Given the description of an element on the screen output the (x, y) to click on. 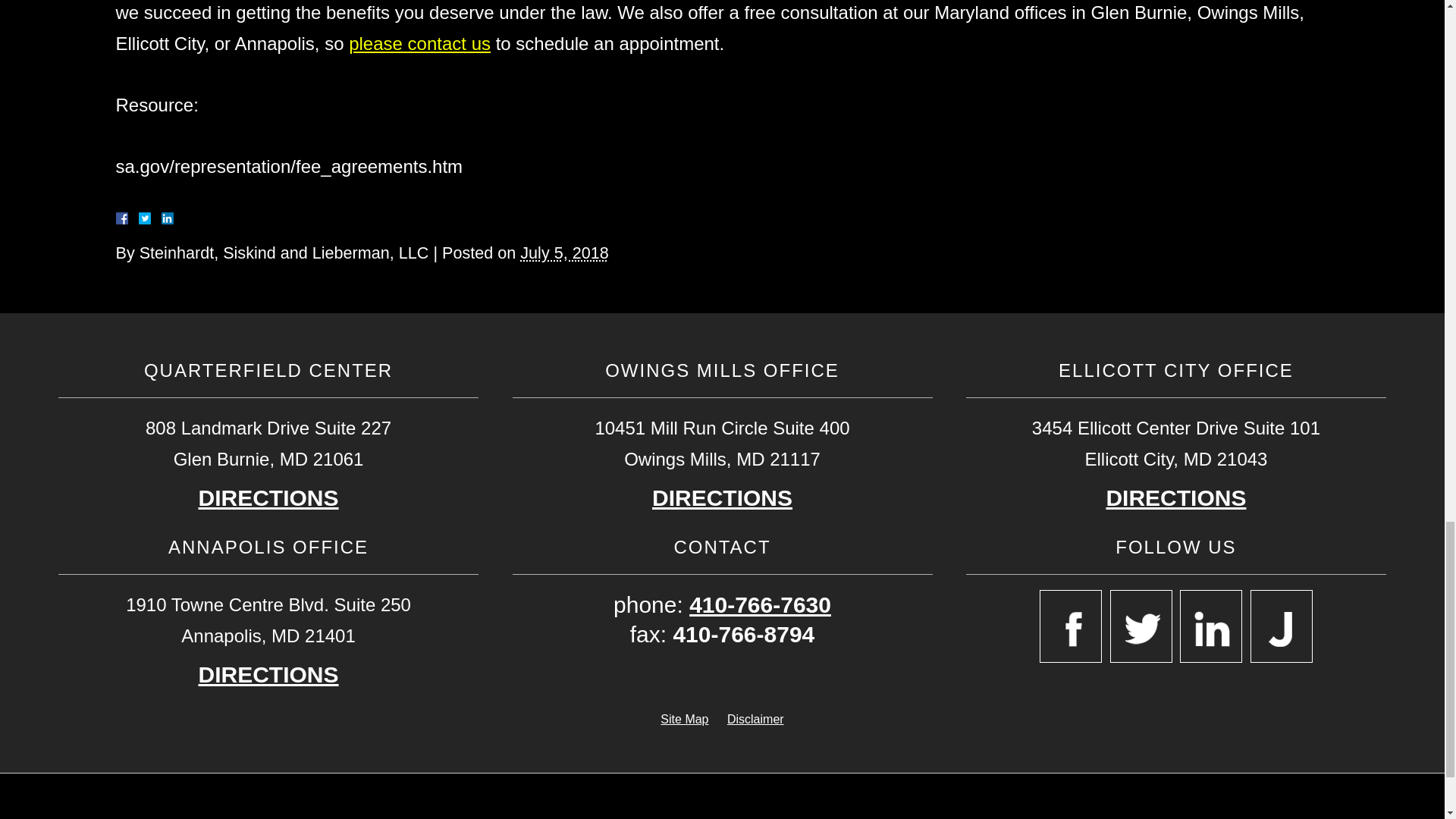
LinkedIn (160, 218)
Open Google Map In New Window (268, 674)
Open Google Map In New Window (268, 497)
Twitter (149, 218)
2018-07-05T03:00:59-0700 (563, 252)
Open Google Map In New Window (722, 497)
Open Google Map In New Window (1175, 497)
Facebook (139, 218)
